Given the description of an element on the screen output the (x, y) to click on. 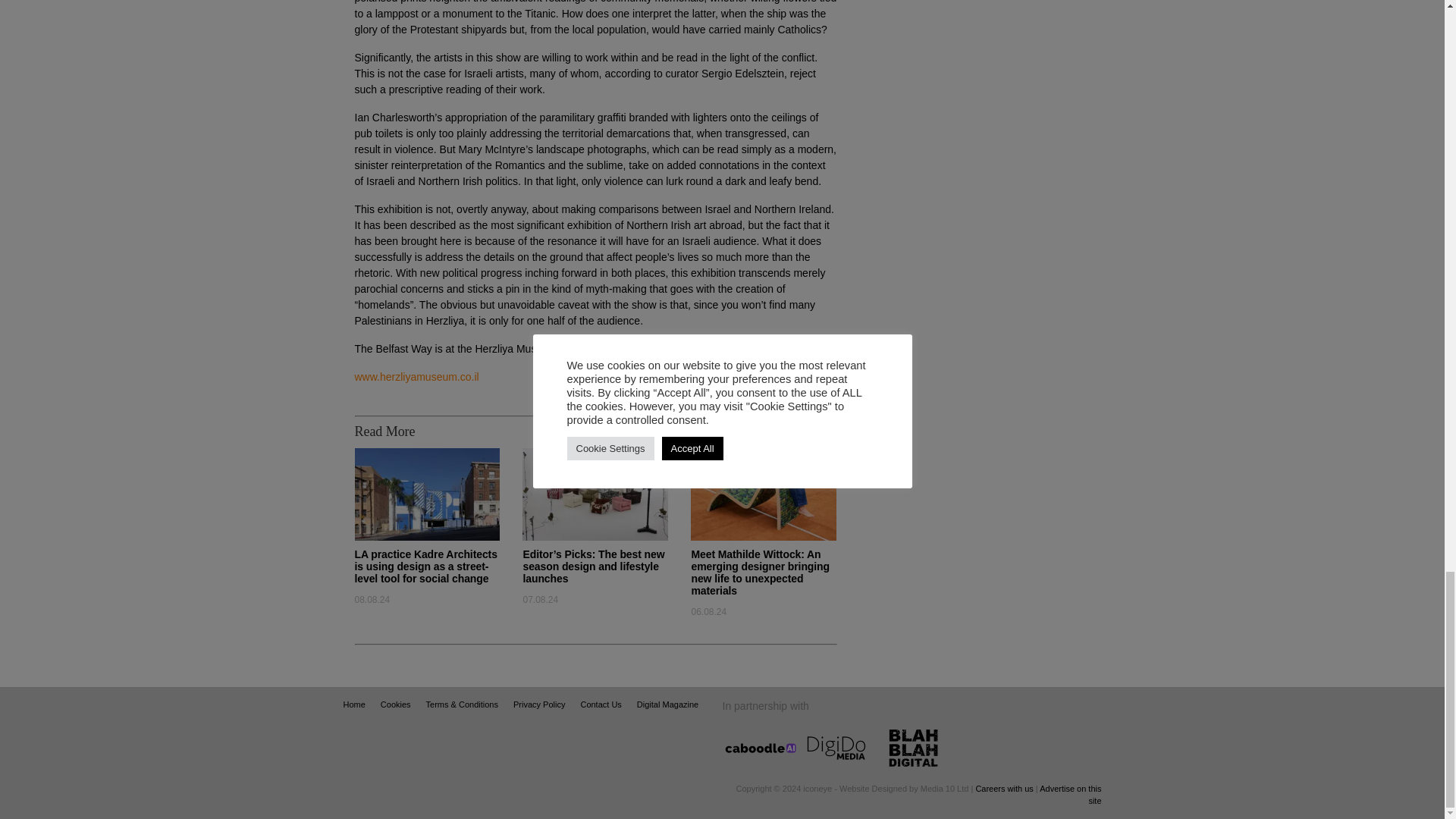
www.herzliyamuseum.co.il (417, 377)
